Given the description of an element on the screen output the (x, y) to click on. 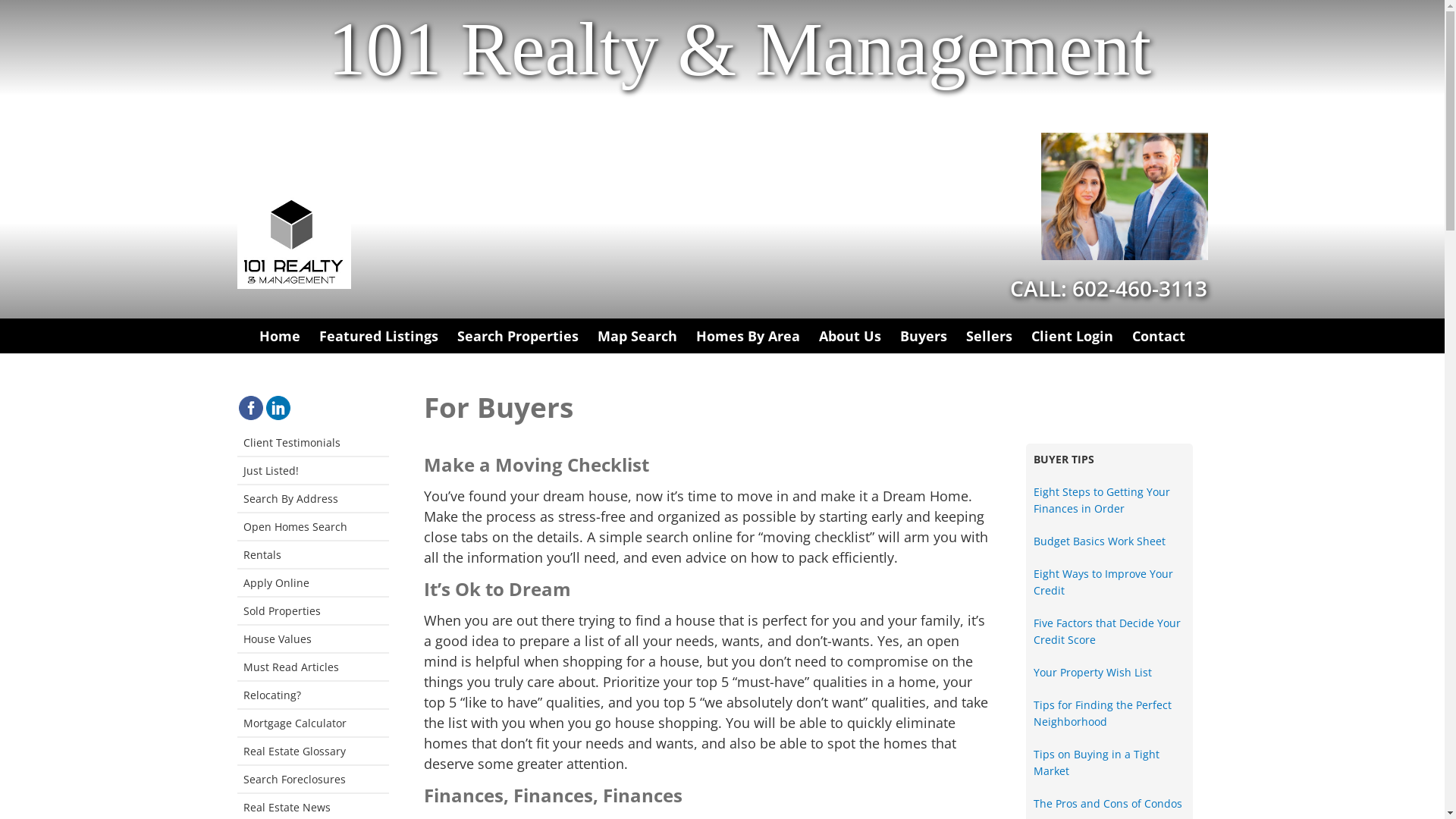
Client Login Element type: text (1072, 335)
Client Testimonials Element type: text (312, 443)
Sellers Element type: text (989, 335)
Map Search Element type: text (637, 335)
Contact Element type: text (1158, 335)
About Us Element type: text (850, 335)
Eight Steps to Getting Your Finances in Order Element type: text (1100, 499)
Eight Ways to Improve Your Credit Element type: text (1102, 581)
Must Read Articles Element type: text (312, 667)
Homes By Area Element type: text (748, 335)
Tips on Buying in a Tight Market Element type: text (1095, 762)
House Values Element type: text (312, 639)
Relocating? Element type: text (312, 695)
Just Listed! Element type: text (312, 471)
Mortgage Calculator Element type: text (312, 723)
Tips for Finding the Perfect Neighborhood Element type: text (1101, 712)
Sold Properties Element type: text (312, 611)
Home Element type: text (279, 335)
Real Estate Glossary Element type: text (312, 751)
Featured Listings Element type: text (378, 335)
Search Properties Element type: text (517, 335)
Five Factors that Decide Your Credit Score Element type: text (1105, 630)
Buyers Element type: text (923, 335)
Budget Basics Work Sheet Element type: text (1098, 540)
Open Homes Search Element type: text (312, 527)
The Pros and Cons of Condos Element type: text (1106, 803)
Your Property Wish List Element type: text (1091, 672)
Search Foreclosures Element type: text (312, 779)
Search By Address Element type: text (312, 499)
Rentals Element type: text (312, 555)
Apply Online Element type: text (312, 583)
